Given the description of an element on the screen output the (x, y) to click on. 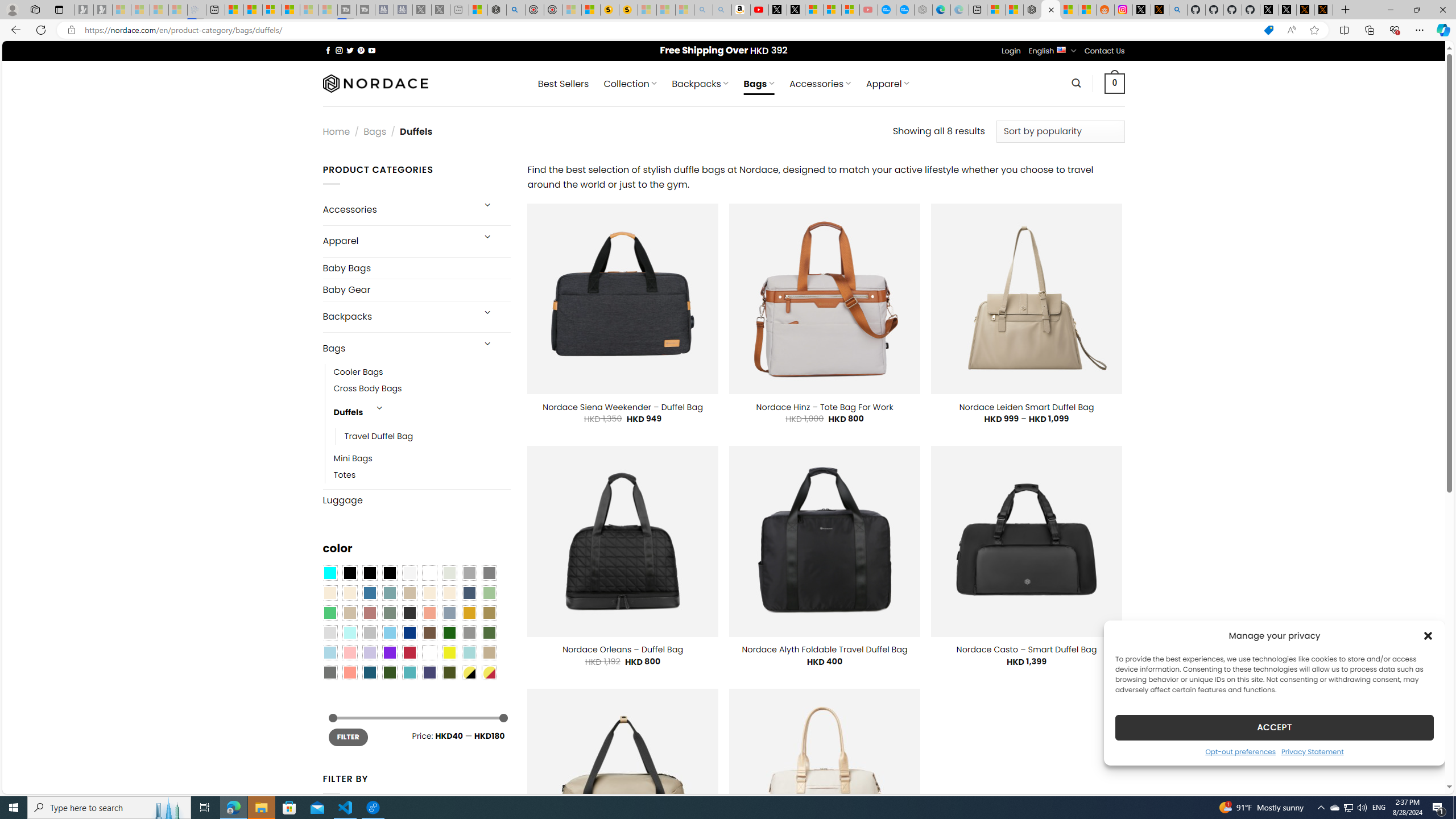
Dull Nickle (329, 672)
Cross Body Bags (367, 388)
Shanghai, China Weather trends | Microsoft Weather (1086, 9)
Capri Blue (369, 672)
Charcoal (408, 613)
Travel Duffel Bag (427, 436)
Silver (369, 632)
